Given the description of an element on the screen output the (x, y) to click on. 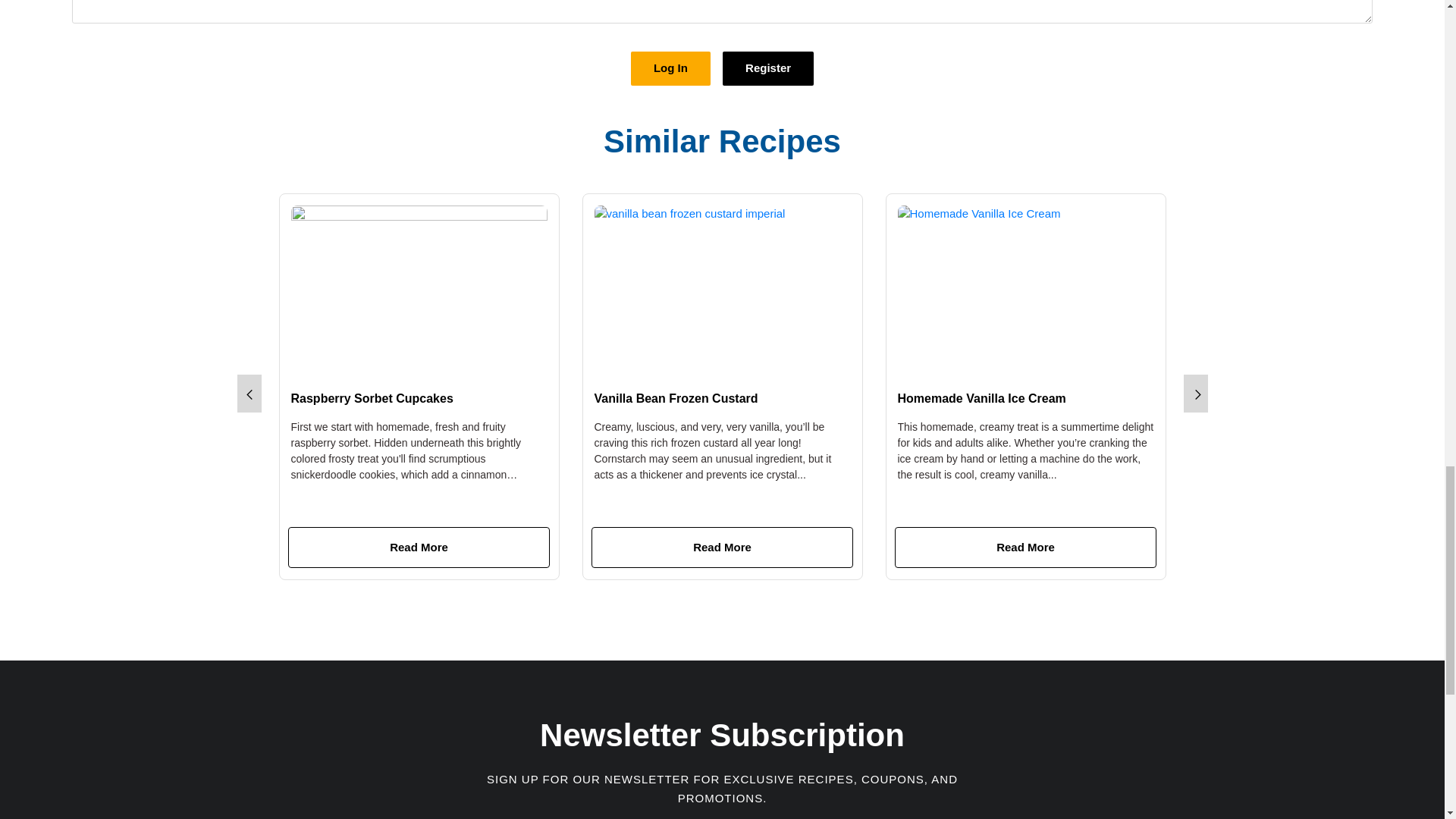
Comment (665, 355)
Bookmark (704, 352)
Favorite (917, 352)
Favorite (310, 352)
Favorite (614, 352)
Comment (363, 355)
Bookmark (400, 352)
